Given the description of an element on the screen output the (x, y) to click on. 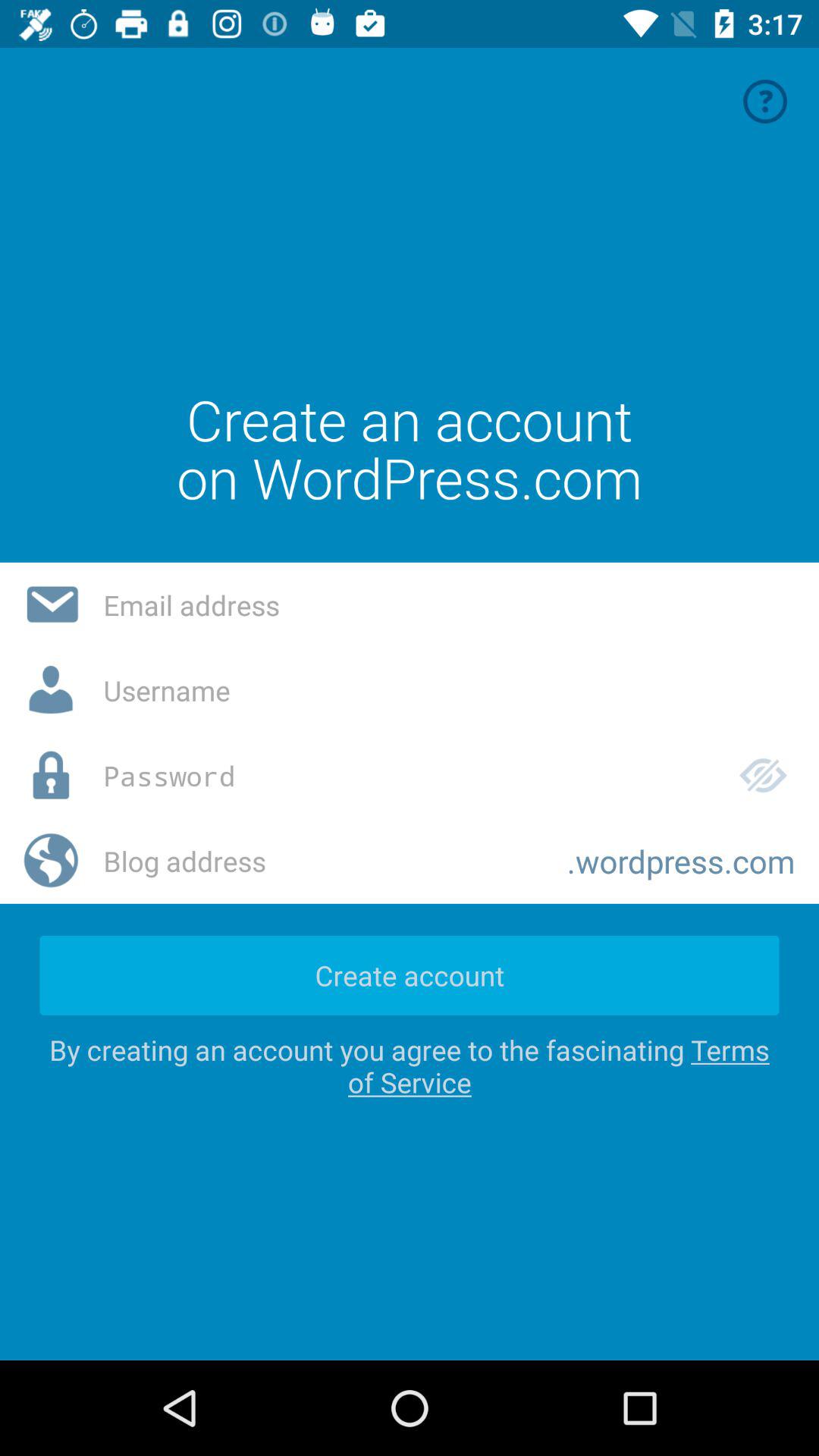
flip to the by creating an (409, 1066)
